Given the description of an element on the screen output the (x, y) to click on. 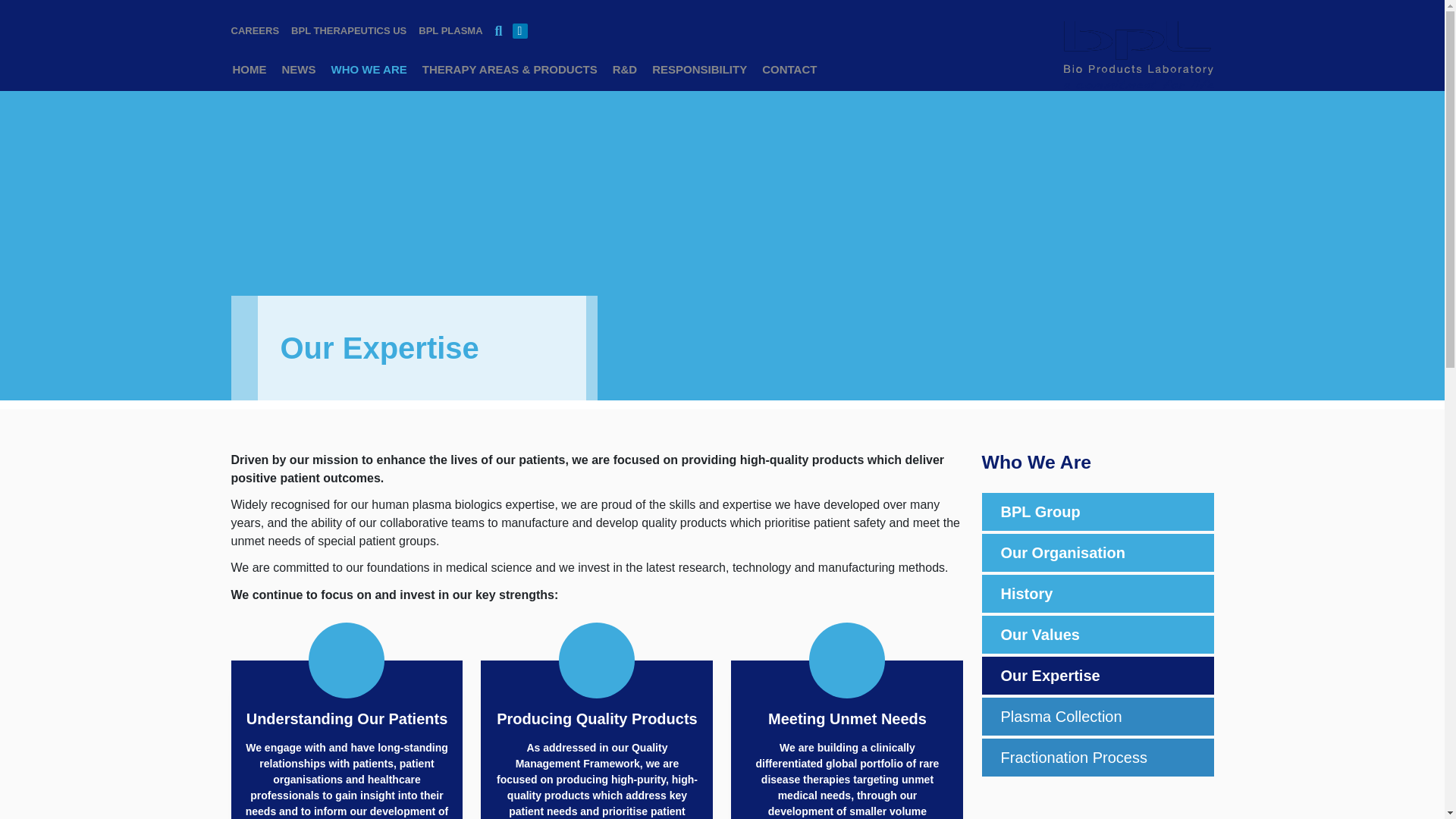
Who We Are (368, 72)
Careers (257, 30)
Responsibility (699, 72)
BPL THERAPEUTICS US (348, 30)
RESPONSIBILITY (699, 72)
WHO WE ARE (368, 72)
CAREERS (257, 30)
BPL PLASMA (449, 30)
BPL Therapeutics US (348, 30)
BPL Plasma (449, 30)
